Given the description of an element on the screen output the (x, y) to click on. 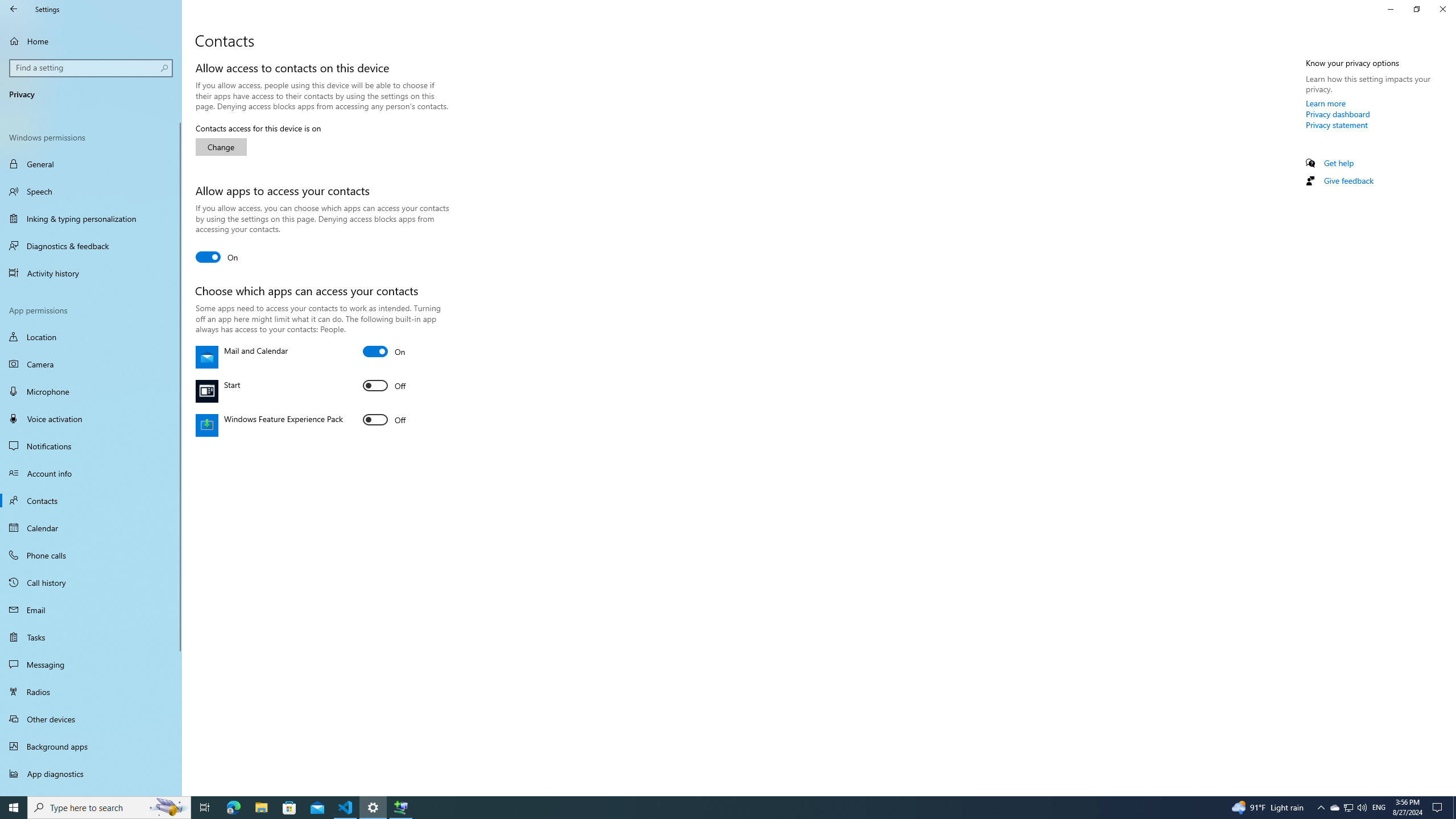
Start (384, 385)
Microphone (91, 390)
Contacts (1333, 807)
Type here to search (91, 500)
Close Settings (108, 807)
Change (1442, 9)
Notifications (221, 146)
Calendar (91, 445)
Extensible Wizards Host Process - 1 running window (91, 527)
Show desktop (400, 807)
Voice activation (1454, 807)
Privacy dashboard (91, 418)
